Given the description of an element on the screen output the (x, y) to click on. 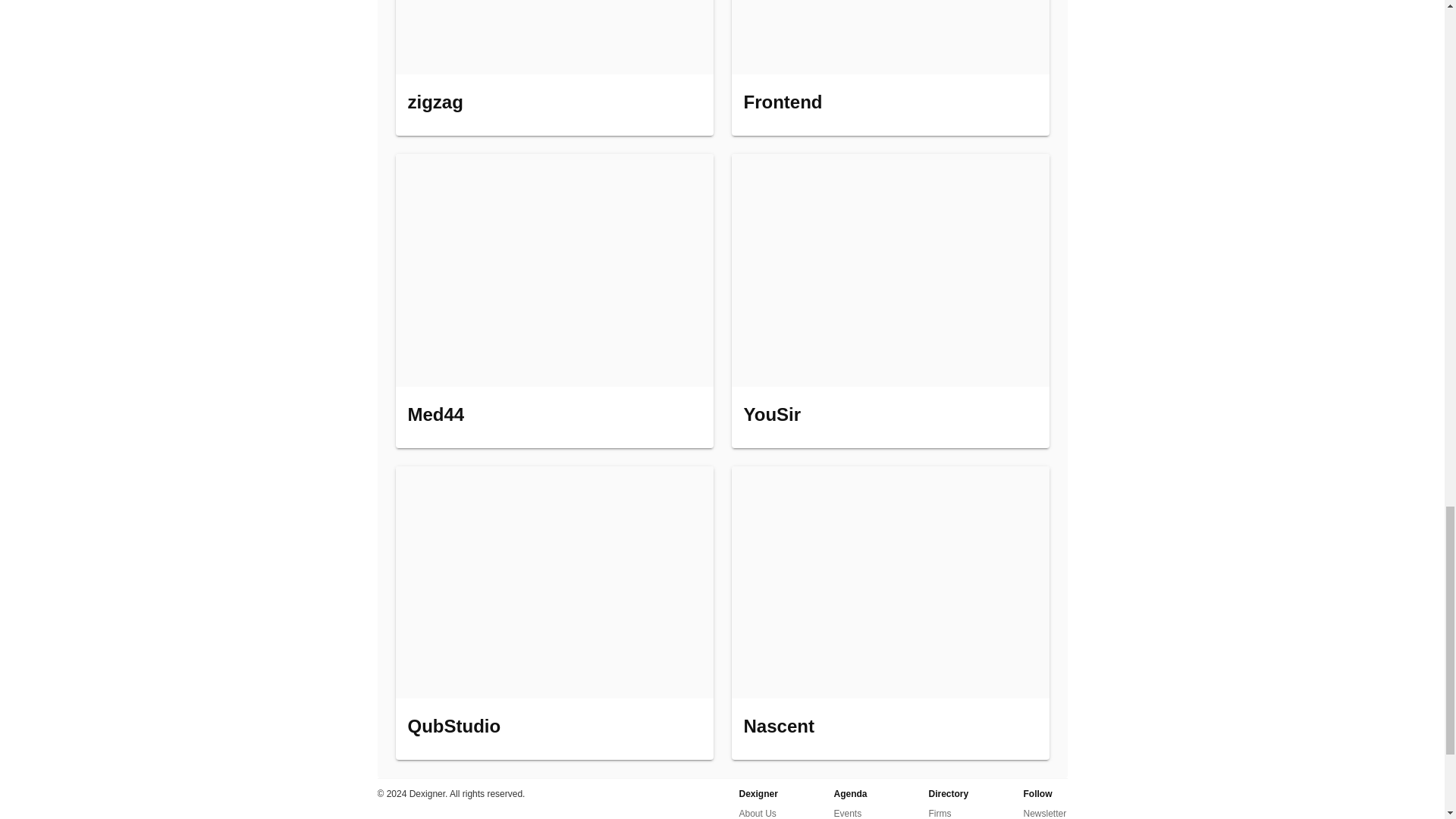
QubStudio (554, 613)
zigzag (554, 67)
Nascent (889, 613)
Med44 (554, 300)
Frontend (889, 67)
YouSir (889, 300)
About Us (757, 811)
